Given the description of an element on the screen output the (x, y) to click on. 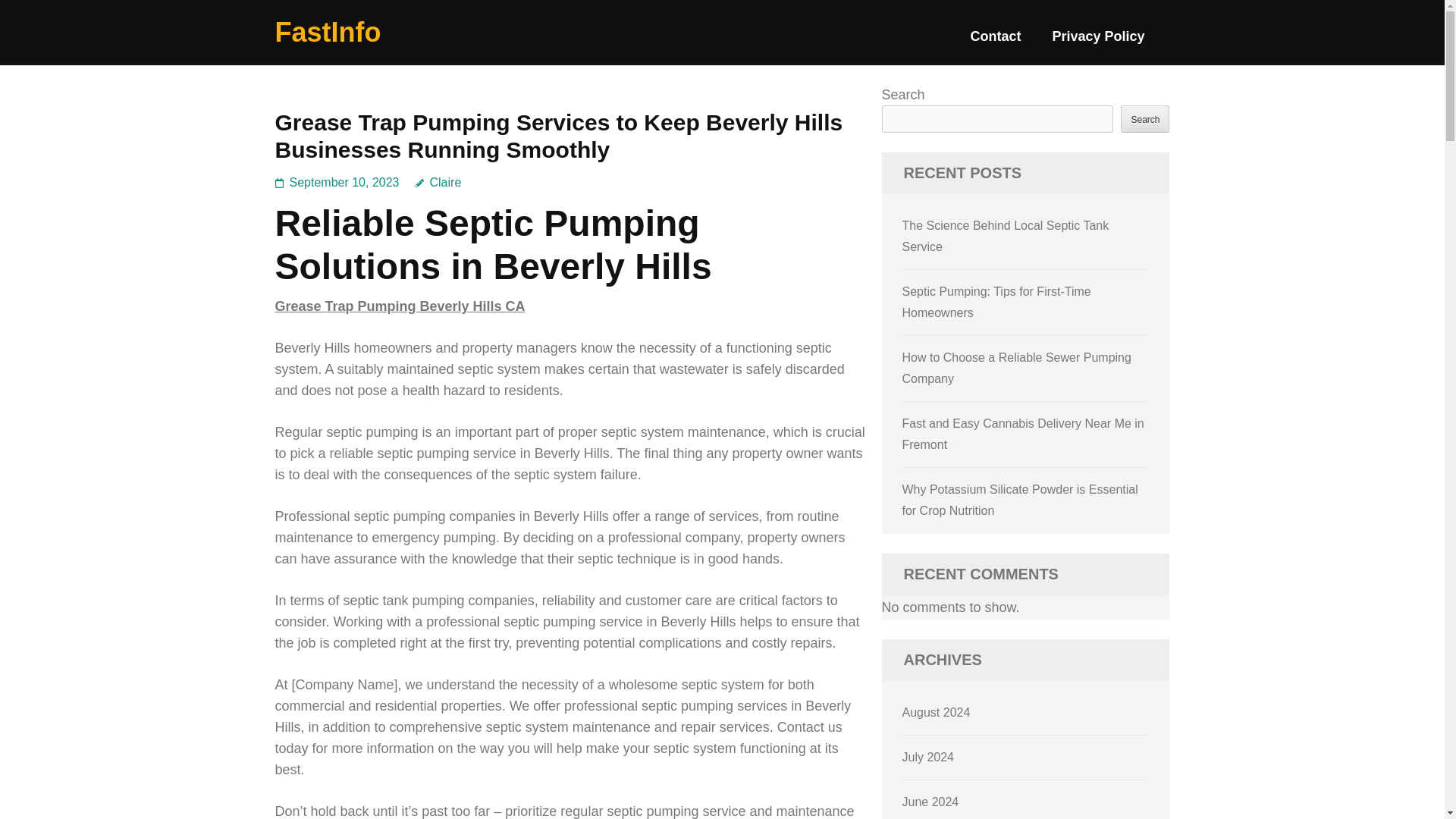
Grease Trap Pumping Beverly Hills CA (399, 305)
Privacy Policy (1097, 42)
Fast and Easy Cannabis Delivery Near Me in Fremont (1023, 433)
September 10, 2023 (343, 182)
June 2024 (930, 801)
Contact (994, 42)
How to Choose a Reliable Sewer Pumping Company (1016, 367)
FastInfo (327, 31)
The Science Behind Local Septic Tank Service (1005, 236)
July 2024 (928, 757)
